Given the description of an element on the screen output the (x, y) to click on. 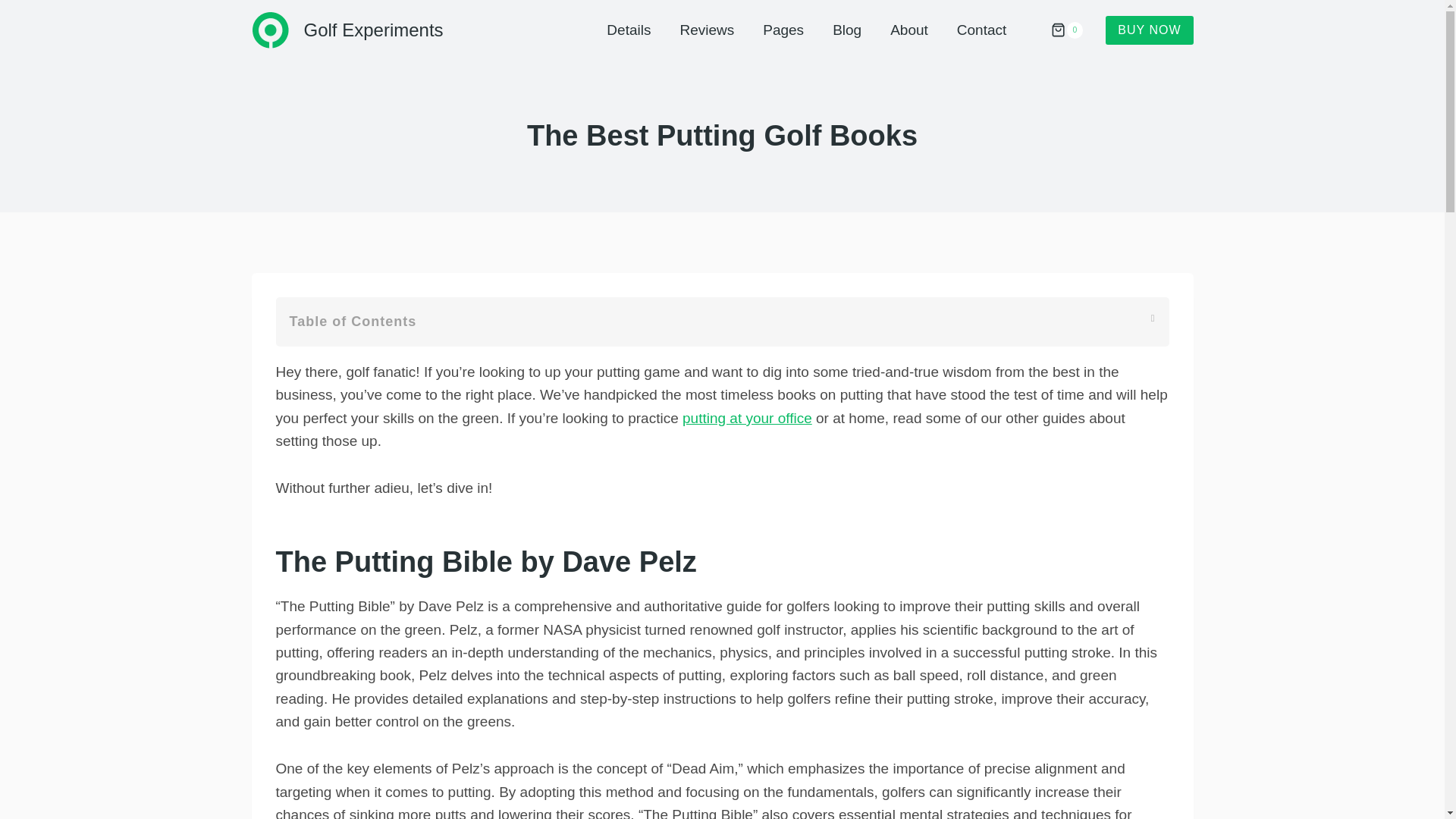
putting at your office (747, 417)
About (909, 29)
Blog (847, 29)
Table of Contents (722, 321)
BUY NOW (1148, 30)
Golf Experiments (347, 30)
Pages (783, 29)
Reviews (706, 29)
0 (1062, 30)
Details (628, 29)
Contact (981, 29)
